Given the description of an element on the screen output the (x, y) to click on. 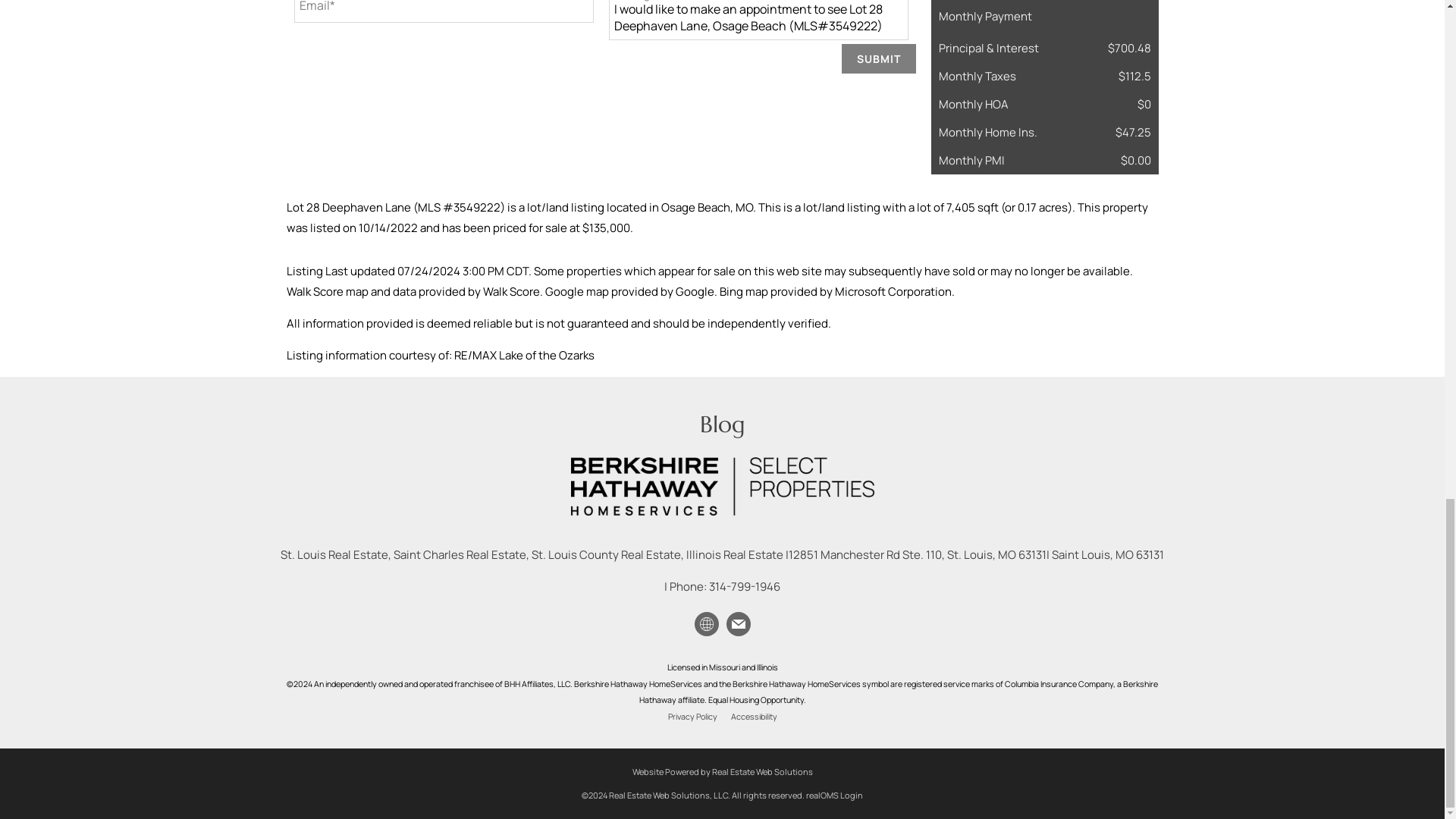
Blog (721, 424)
Visit us on Email (737, 623)
Visit us on Website (705, 623)
